Given the description of an element on the screen output the (x, y) to click on. 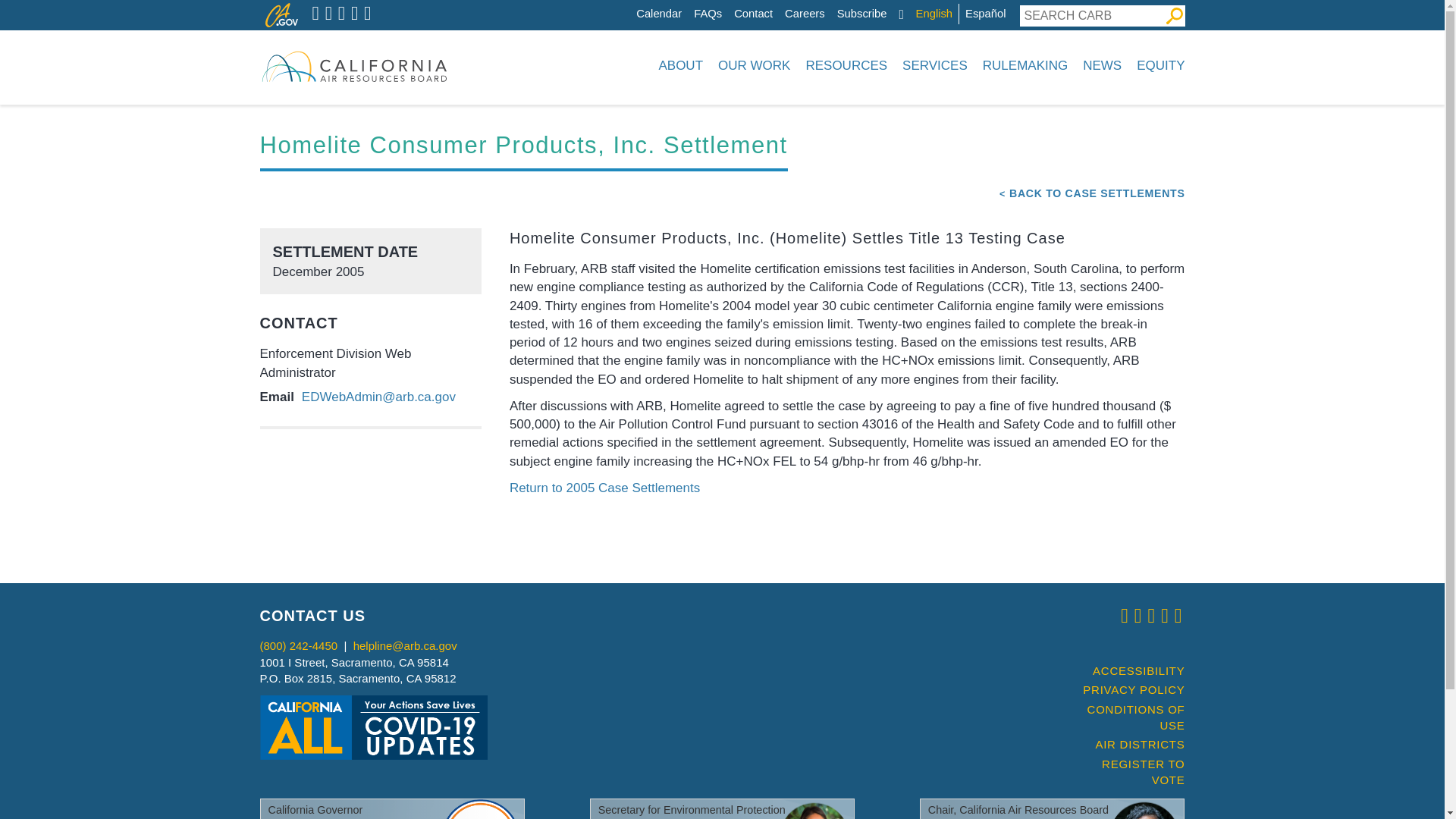
OUR WORK (753, 65)
Careers (804, 14)
Search (1174, 15)
Skip to main content (639, 4)
Home (353, 65)
RULEMAKING (1025, 65)
California online voter registration (1127, 772)
Subscribe (861, 14)
ABOUT (680, 65)
FAQs (708, 14)
Enter the terms you wish to search for. (1091, 15)
NEWS (1102, 65)
Calendar (658, 14)
EQUITY (1157, 65)
